Given the description of an element on the screen output the (x, y) to click on. 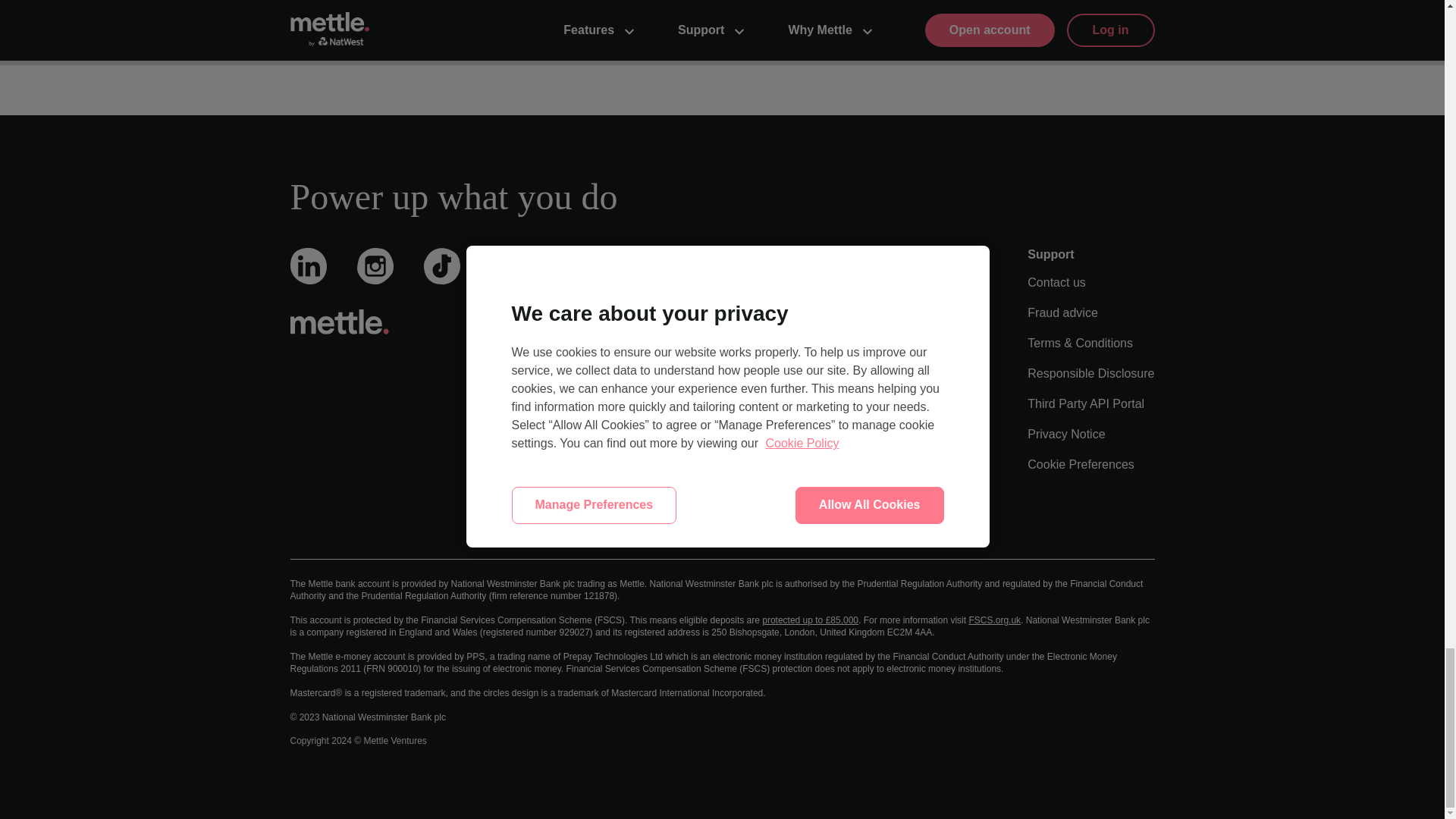
TikTok (441, 278)
Content hub (824, 282)
Help (804, 342)
Get paid faster (625, 312)
All account features (639, 282)
Be tax confident (628, 403)
Google Pay (617, 524)
LinkedIn (307, 277)
Apple Pay (612, 494)
FreeAgent accounting software (668, 463)
